Given the description of an element on the screen output the (x, y) to click on. 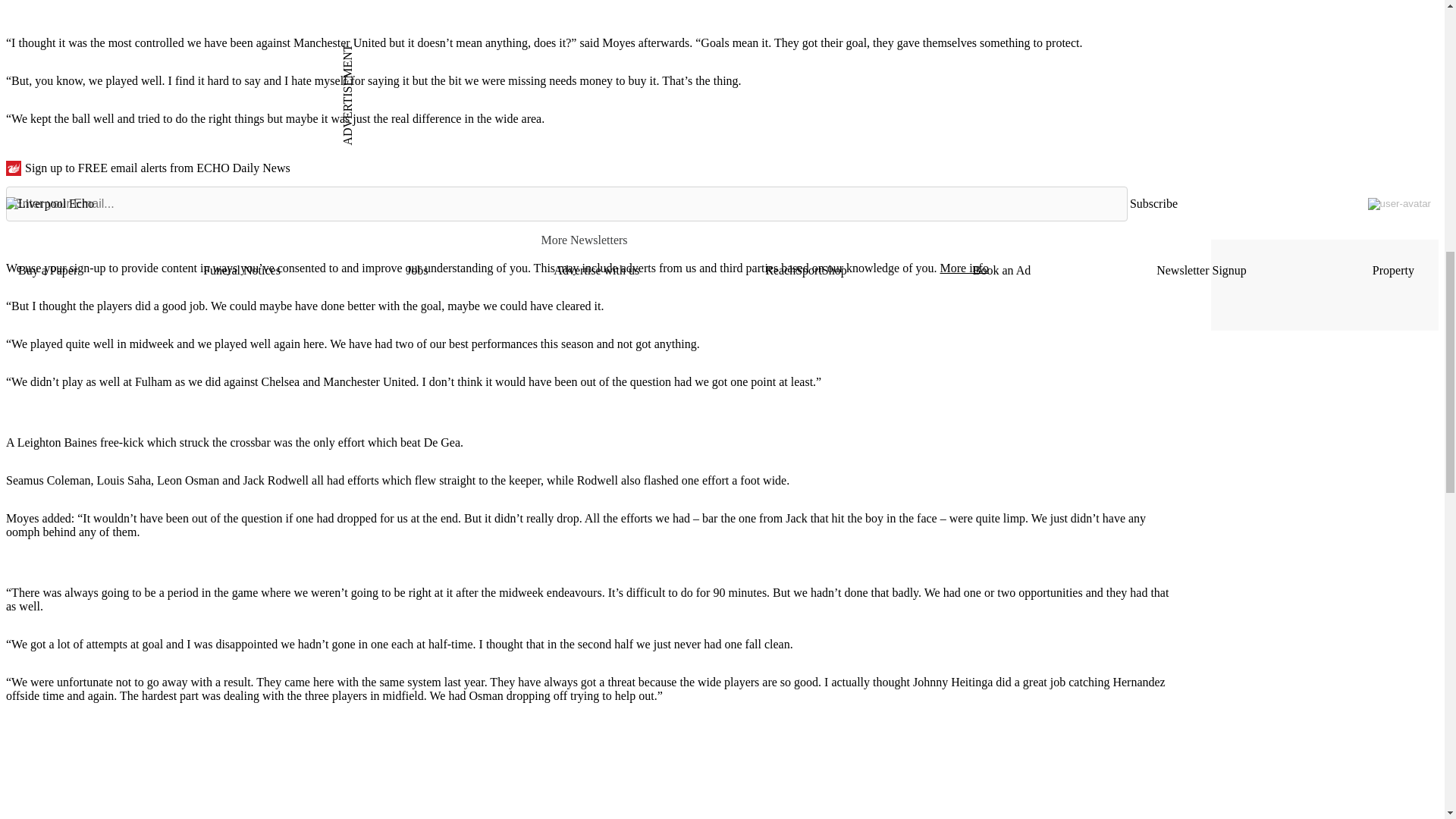
More info (963, 267)
Subscribe (1153, 203)
More Newsletters (591, 239)
